Given the description of an element on the screen output the (x, y) to click on. 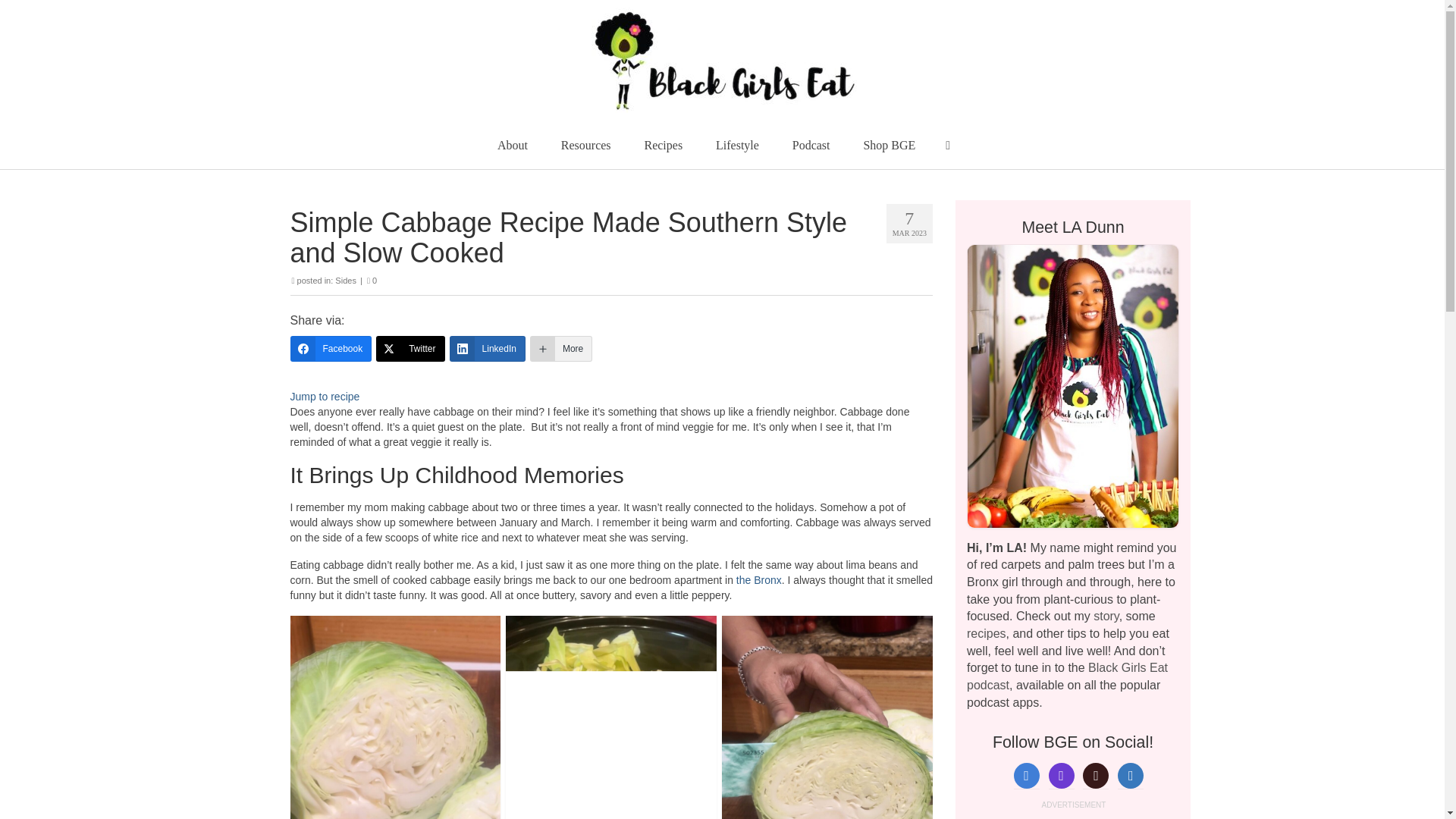
Lifestyle (737, 145)
Black Girls Eat (724, 60)
Instagram (1061, 775)
Podcast (811, 145)
Sides (345, 280)
Resources (586, 145)
Search (947, 145)
Recipes (662, 145)
Default Label (1130, 775)
About (512, 145)
